Given the description of an element on the screen output the (x, y) to click on. 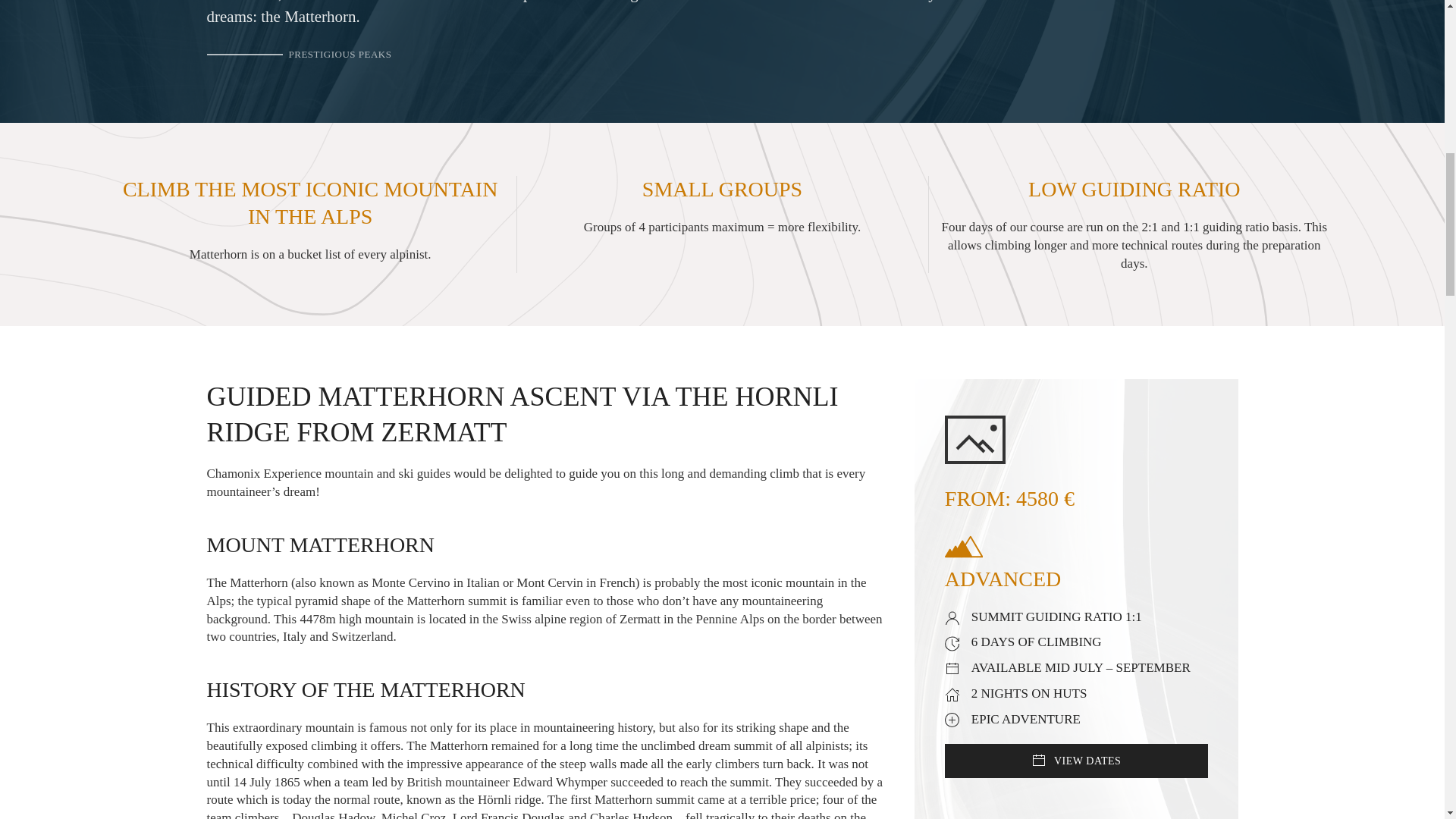
View dates (1076, 760)
Prestigious peaks (298, 54)
